Given the description of an element on the screen output the (x, y) to click on. 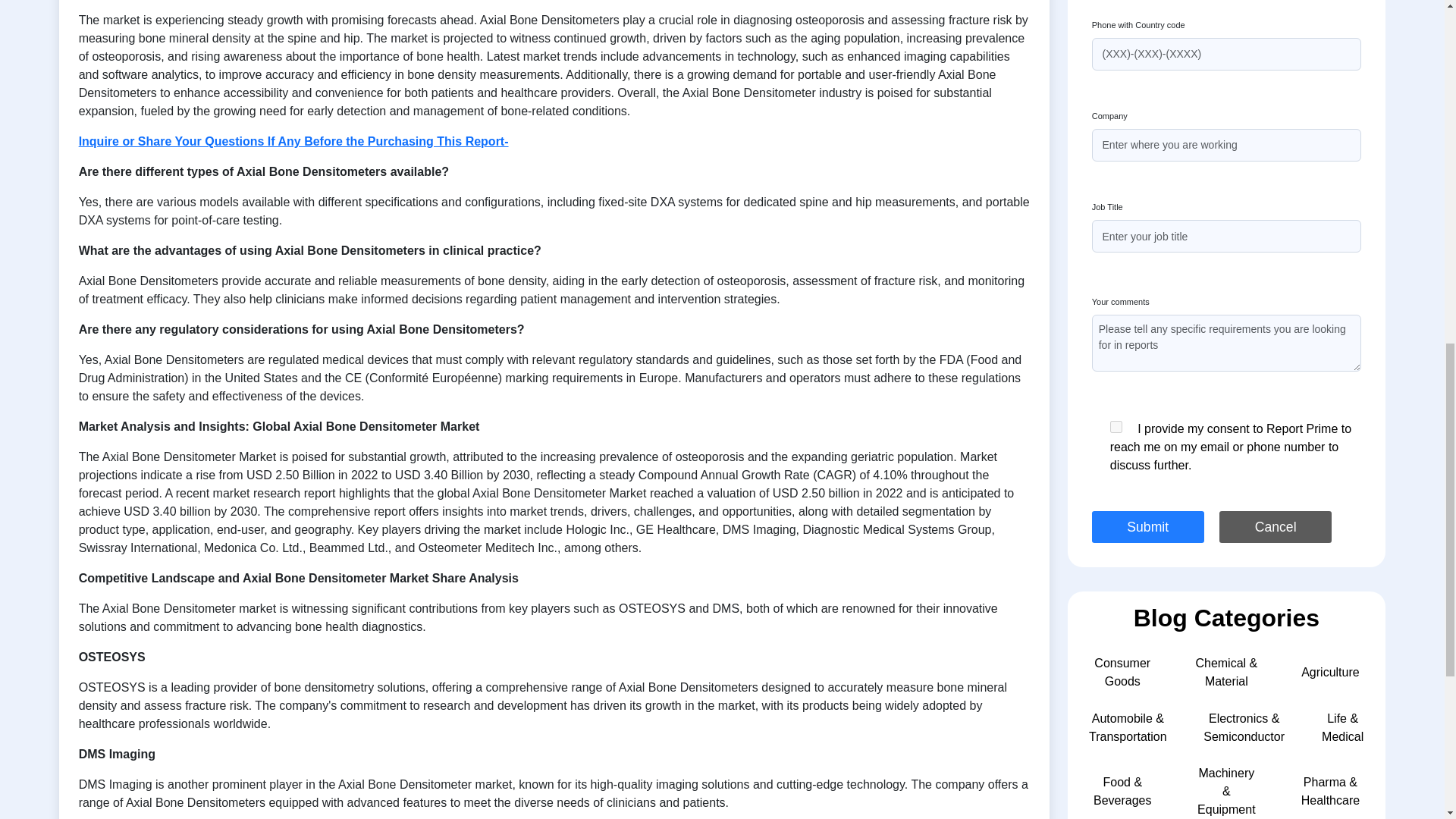
Consumer Goods (1122, 671)
Cancel (1276, 526)
Submit (1148, 526)
Agriculture (1329, 671)
